Given the description of an element on the screen output the (x, y) to click on. 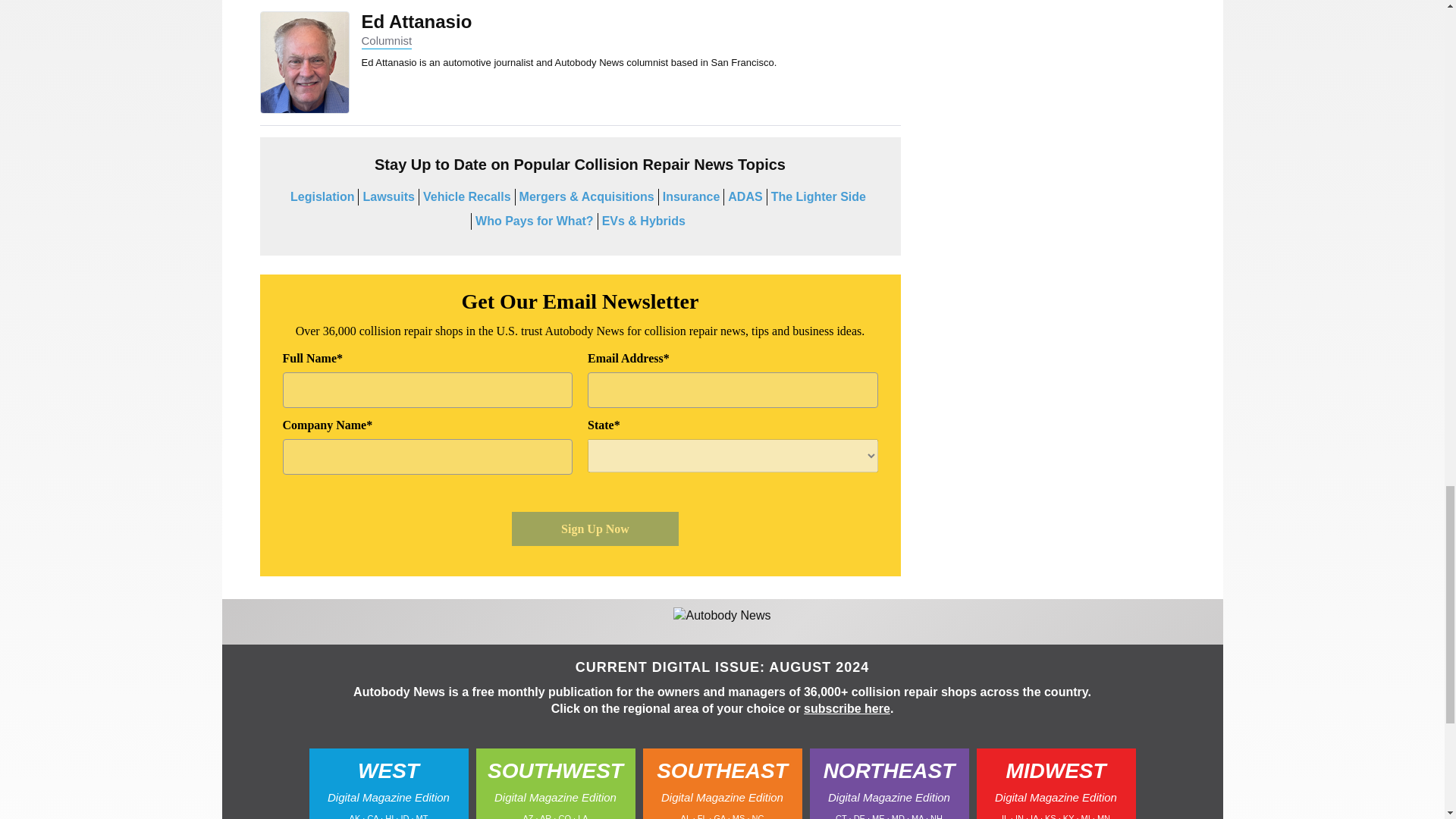
Legislation (321, 196)
Who Pays for What? (535, 220)
ADAS (744, 196)
The Lighter Side (818, 196)
Insurance (691, 196)
Lawsuits (387, 196)
Vehicle Recalls (467, 196)
